Given the description of an element on the screen output the (x, y) to click on. 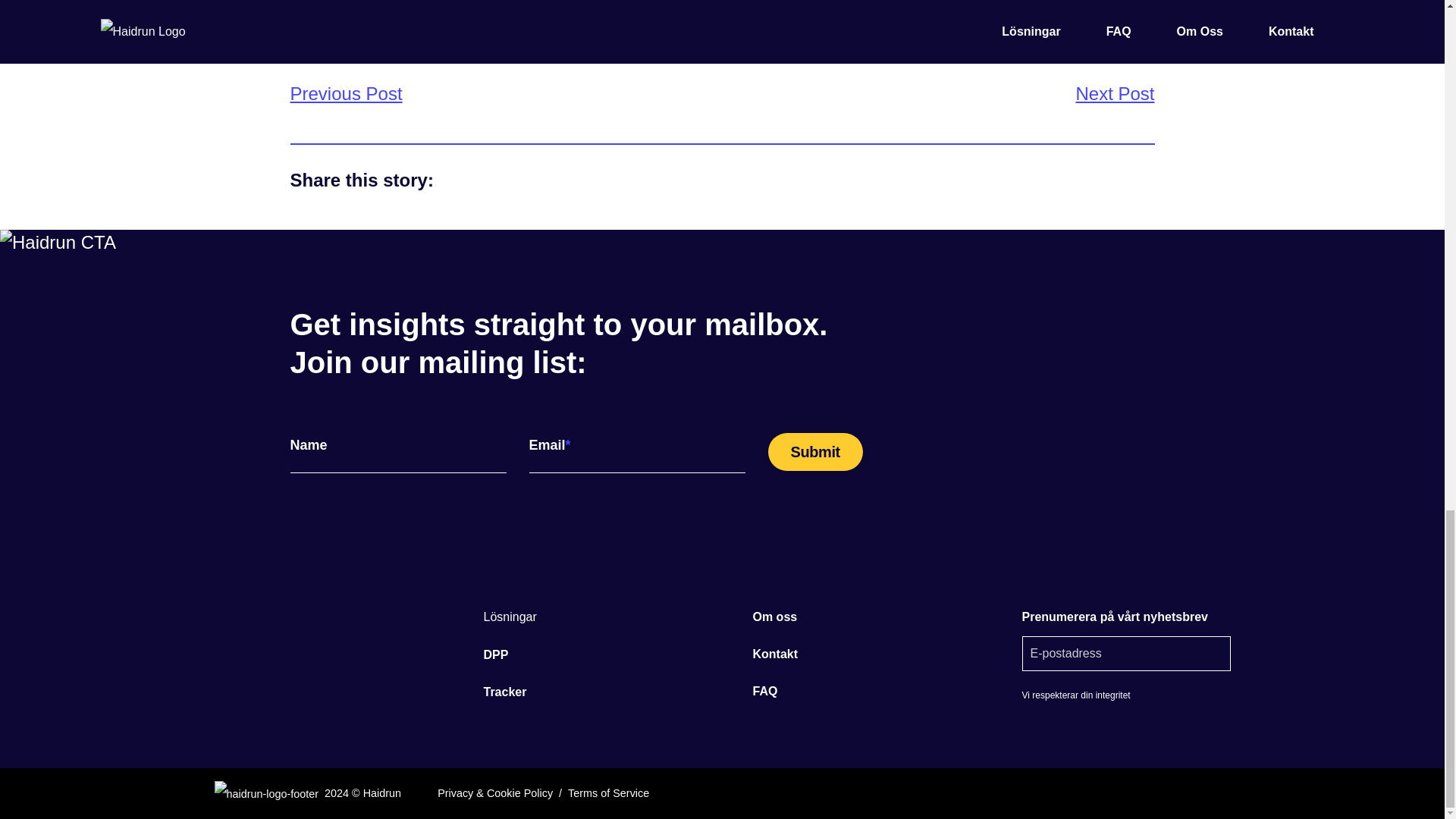
Got it (986, 237)
Tracker (505, 691)
FAQ (764, 690)
Om oss (774, 616)
Terms of Service (608, 792)
Previous Post (345, 93)
Submit (814, 451)
Submit (814, 451)
Next Post (1114, 93)
View Policy. (888, 237)
